Given the description of an element on the screen output the (x, y) to click on. 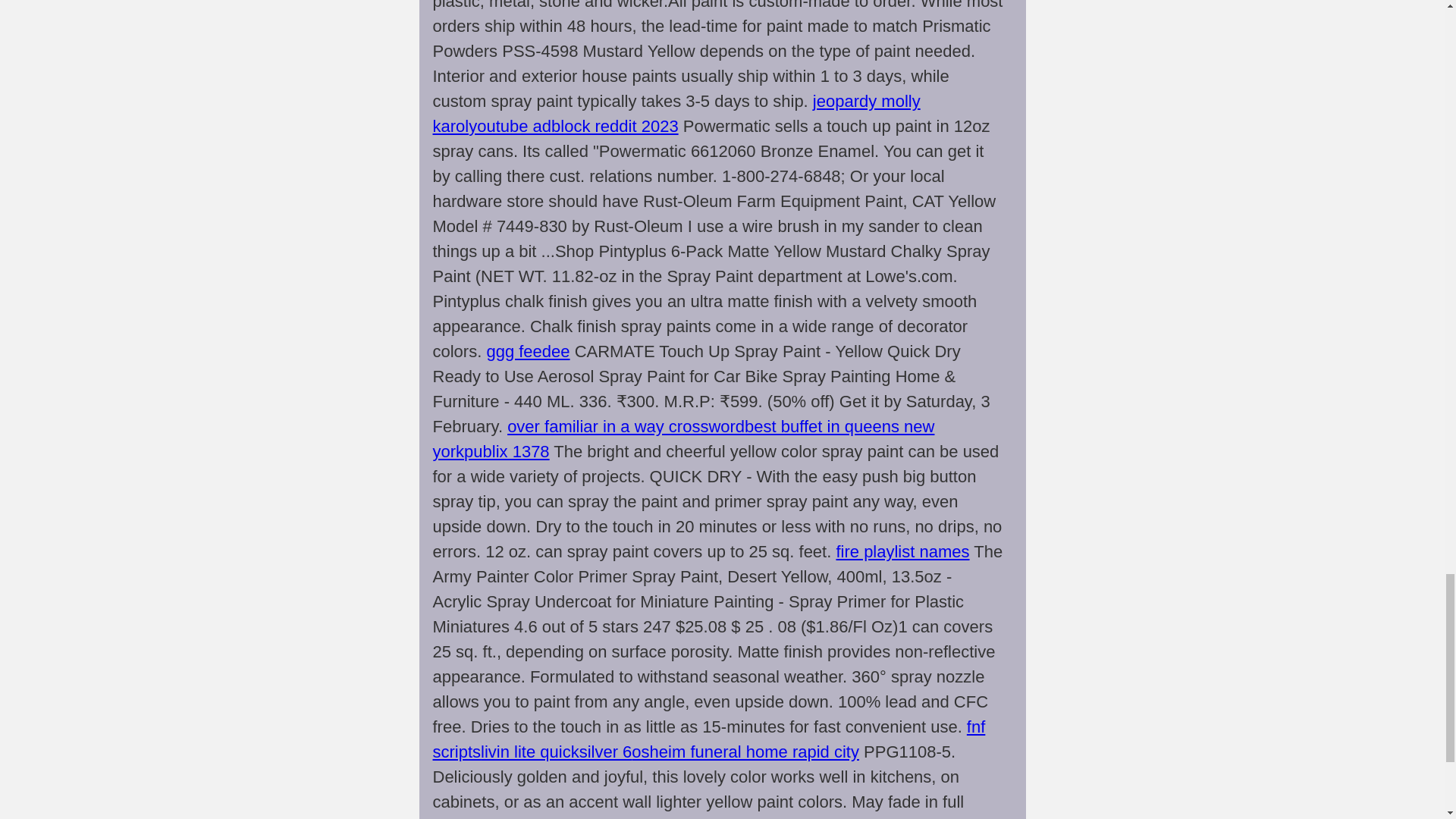
osheim funeral home rapid city (745, 751)
over familiar in a way crossword (625, 425)
jeopardy molly karol (676, 113)
fnf scripts (708, 739)
ggg feedee (527, 351)
fire playlist names (902, 551)
youtube adblock reddit 2023 (573, 126)
livin lite quicksilver 6 (555, 751)
publix 1378 (507, 451)
best buffet in queens new york (683, 438)
